Given the description of an element on the screen output the (x, y) to click on. 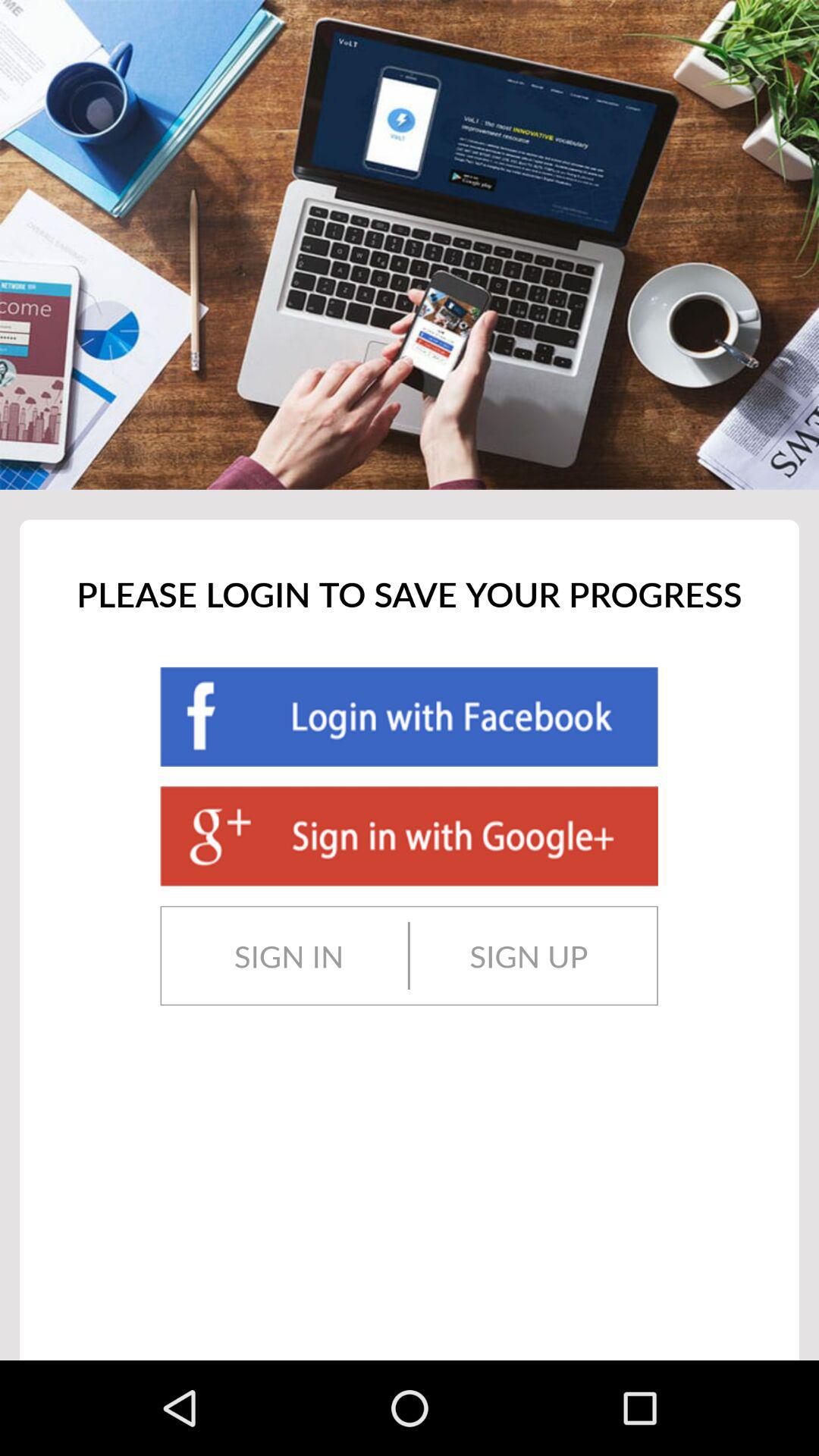
sign into an application with your google+ account (409, 836)
